Given the description of an element on the screen output the (x, y) to click on. 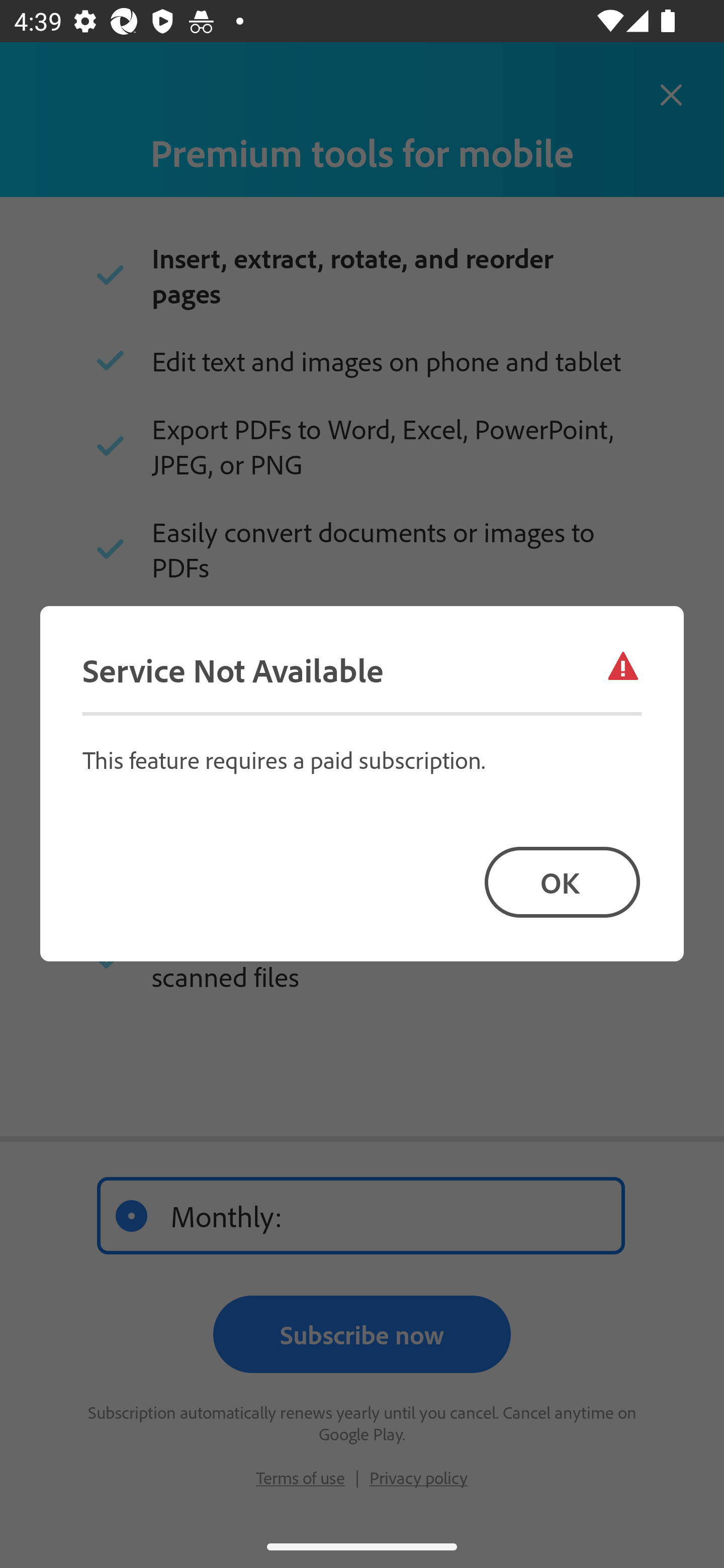
OK (561, 881)
